Given the description of an element on the screen output the (x, y) to click on. 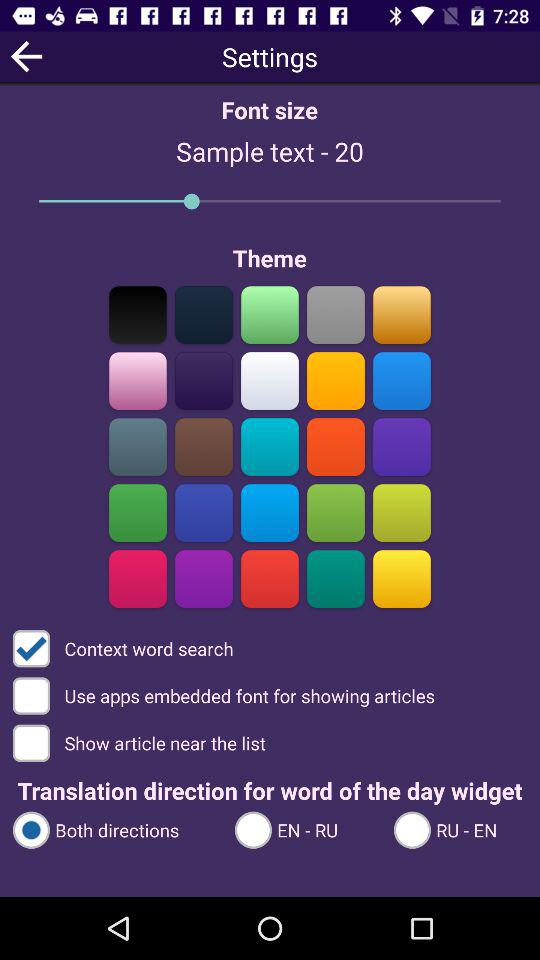
change theme to green (269, 314)
